Given the description of an element on the screen output the (x, y) to click on. 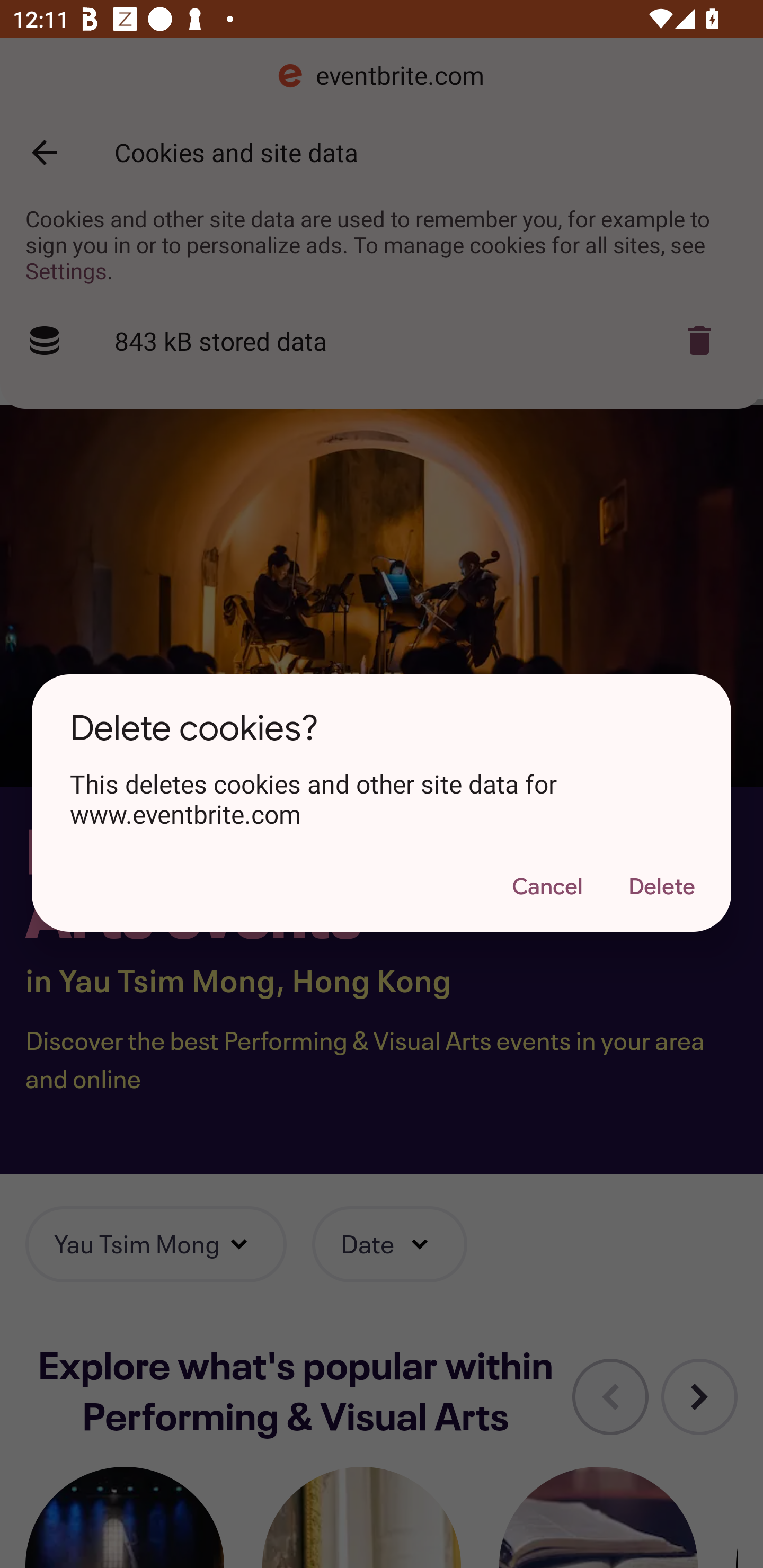
Cancel (546, 887)
Delete (660, 887)
